Given the description of an element on the screen output the (x, y) to click on. 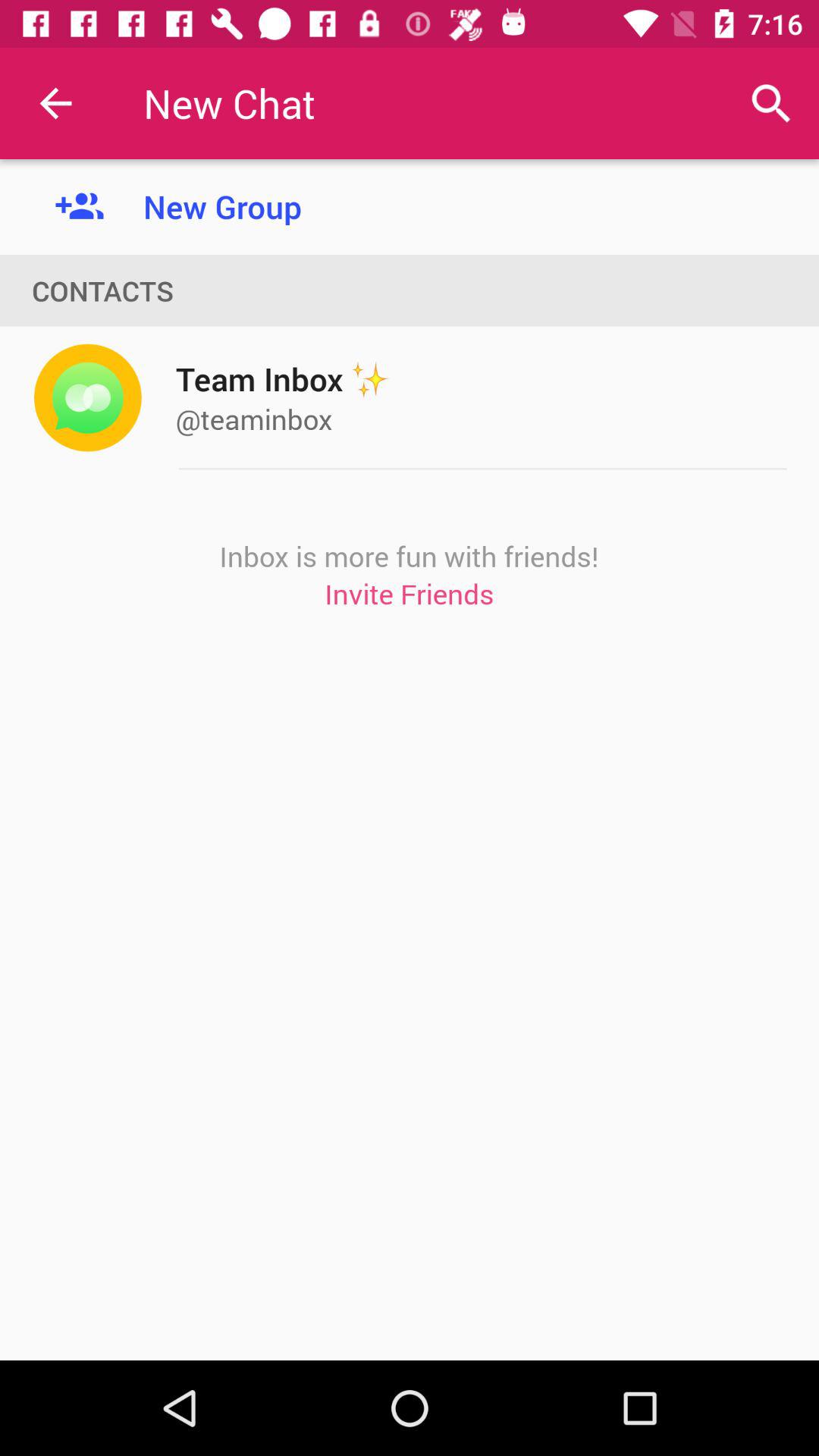
press the item next to the new group item (55, 103)
